Given the description of an element on the screen output the (x, y) to click on. 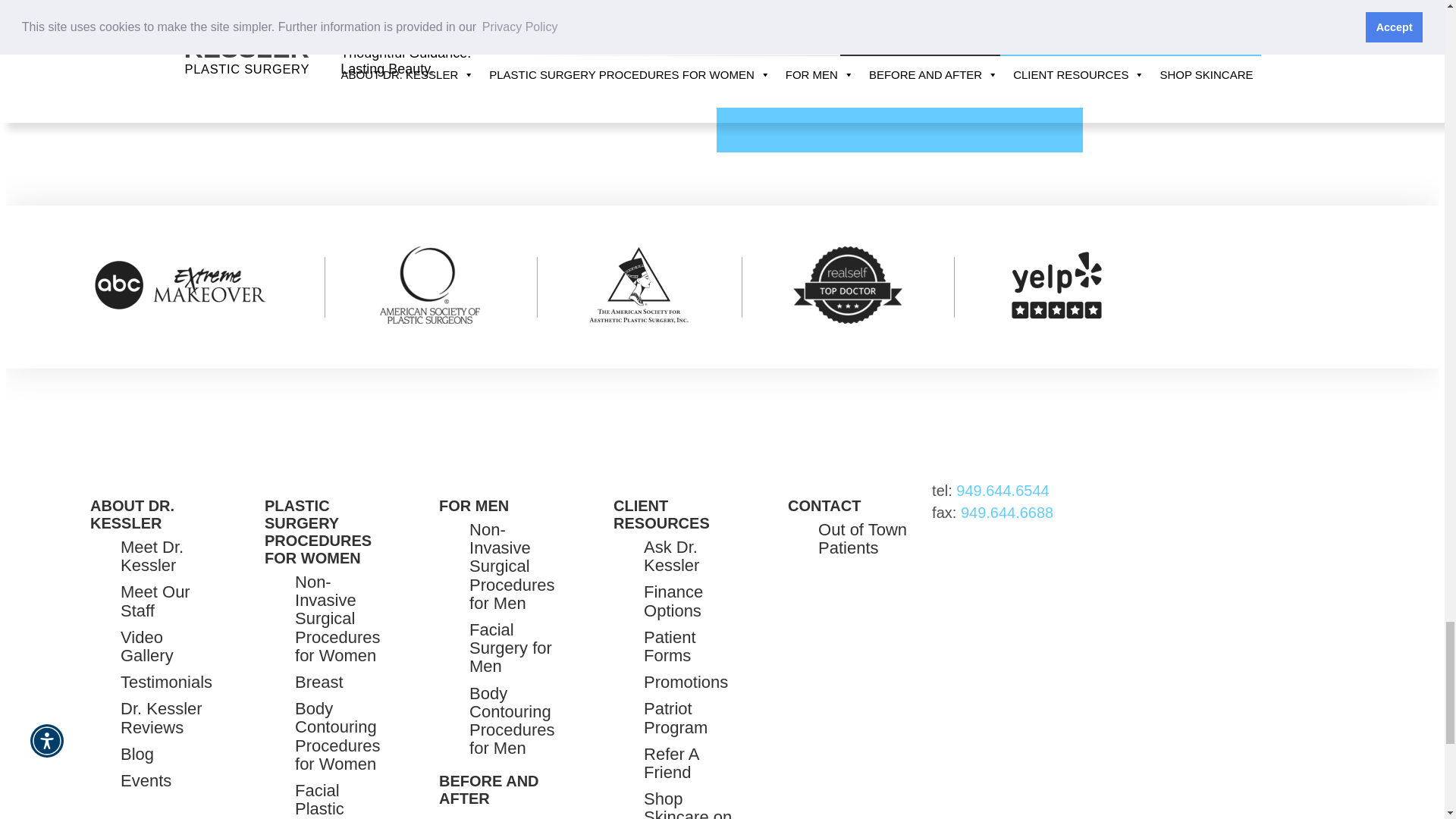
1 (50, 10)
